Given the description of an element on the screen output the (x, y) to click on. 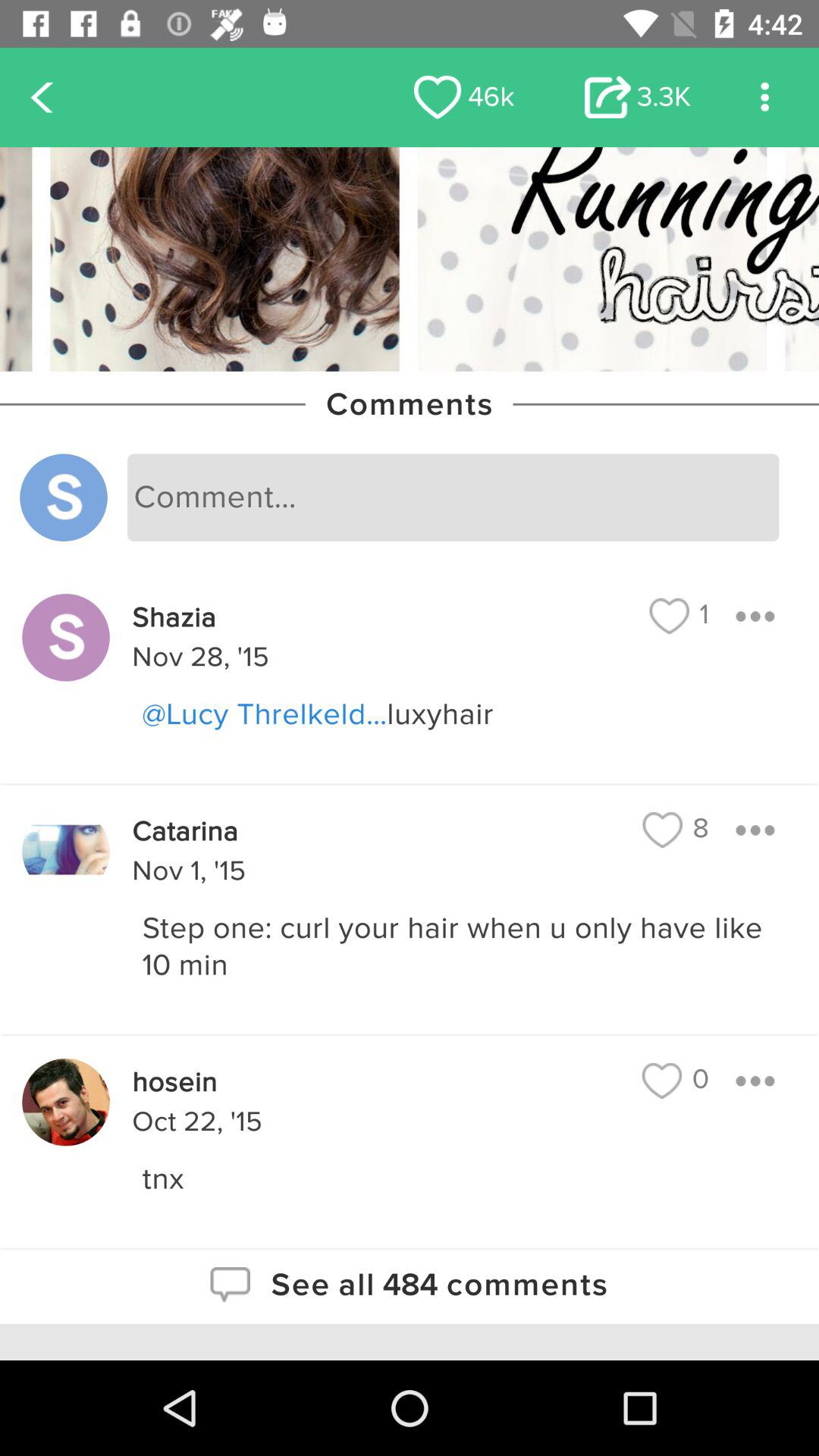
toggle autoplay option (764, 97)
